Given the description of an element on the screen output the (x, y) to click on. 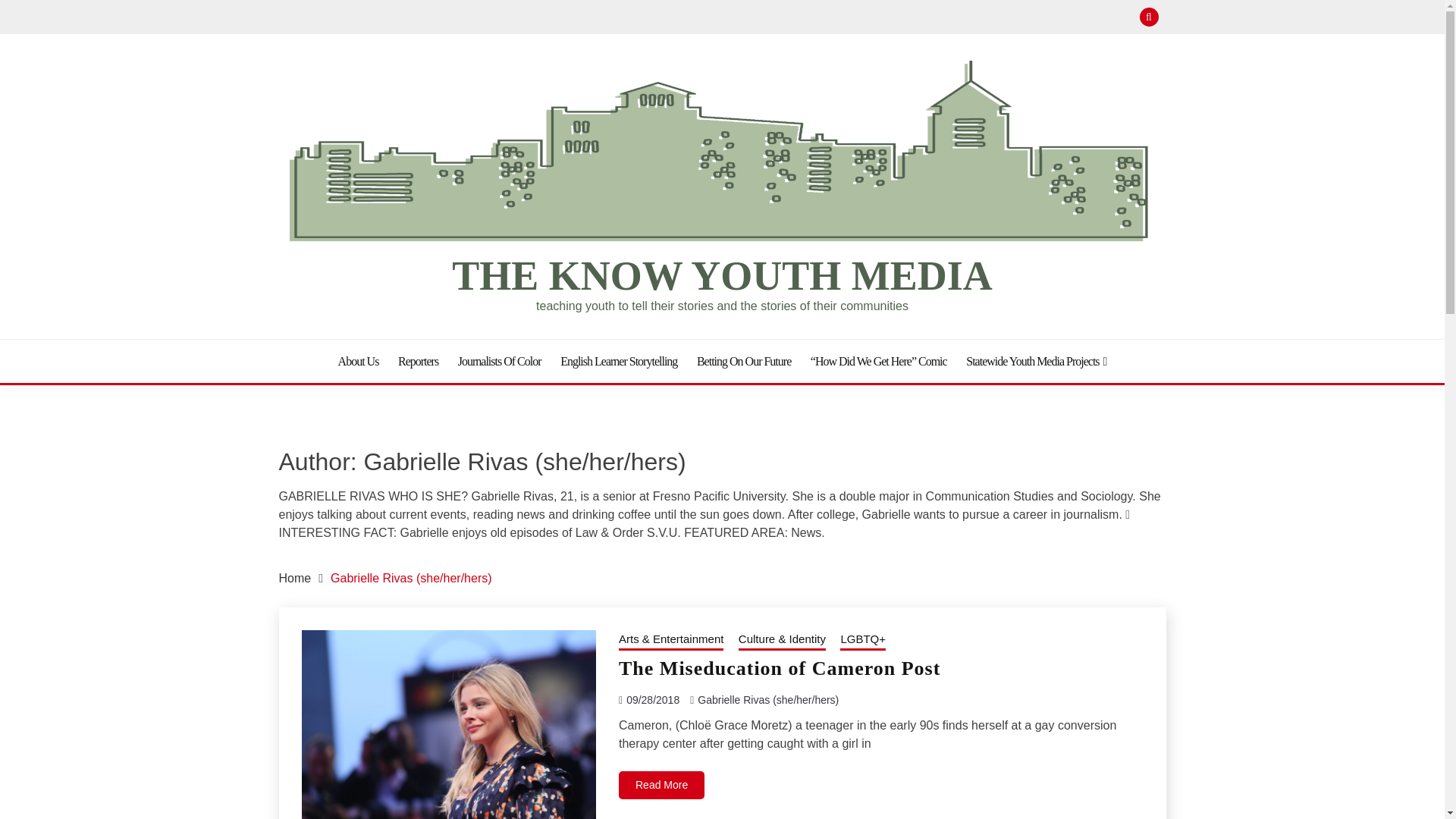
Read More (661, 785)
The Miseducation of Cameron Post (779, 668)
Betting On Our Future (743, 361)
Journalists Of Color (499, 361)
THE KNOW YOUTH MEDIA (721, 275)
Search (832, 18)
English Learner Storytelling (618, 361)
About Us (357, 361)
Home (295, 577)
Statewide Youth Media Projects (1036, 361)
